Given the description of an element on the screen output the (x, y) to click on. 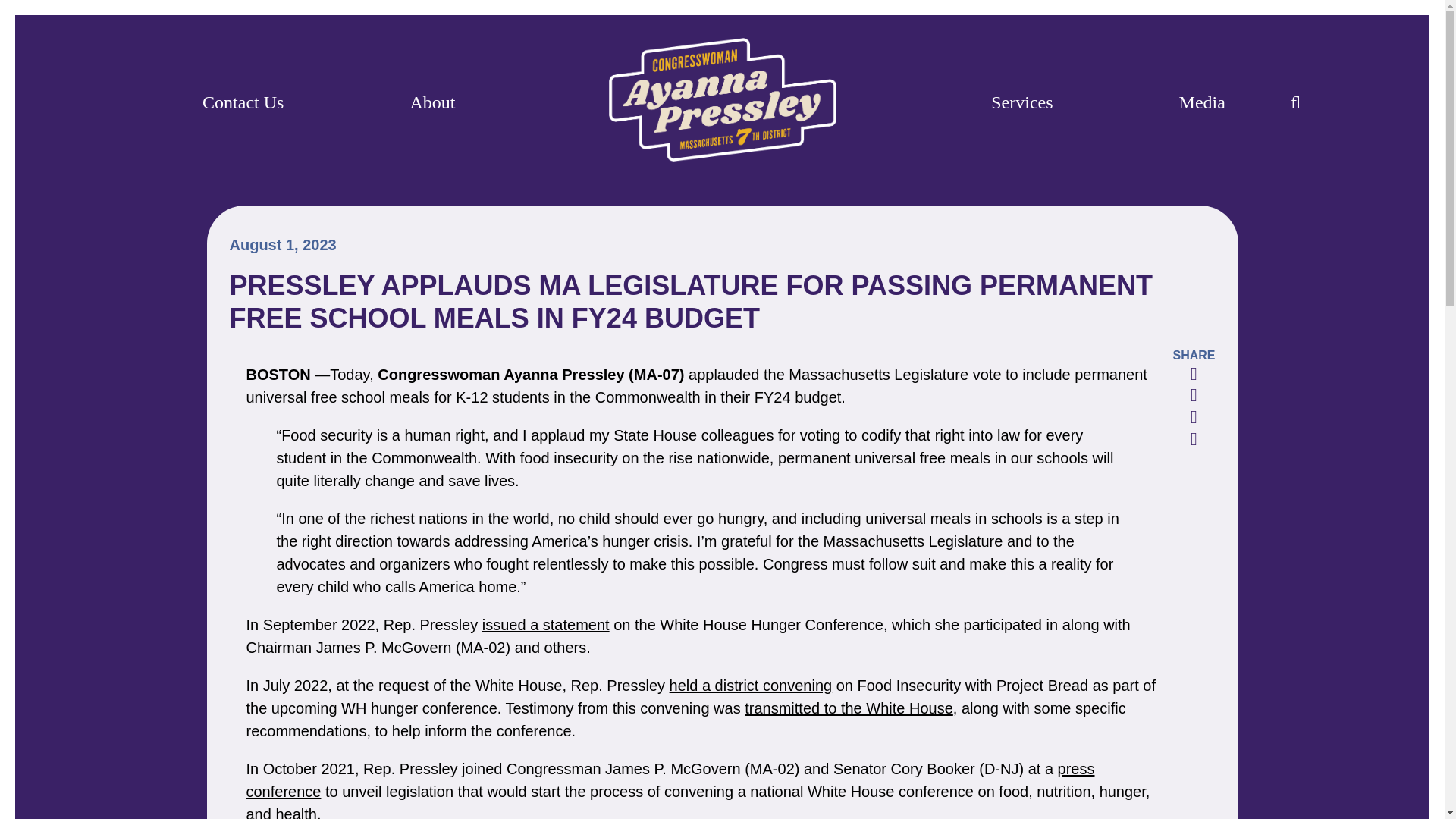
About (431, 102)
press conference (670, 780)
held a district convening (750, 685)
Media (1202, 102)
issued a statement (545, 624)
Services (1021, 102)
Contact Us (242, 102)
transmitted to the White House (848, 708)
